Given the description of an element on the screen output the (x, y) to click on. 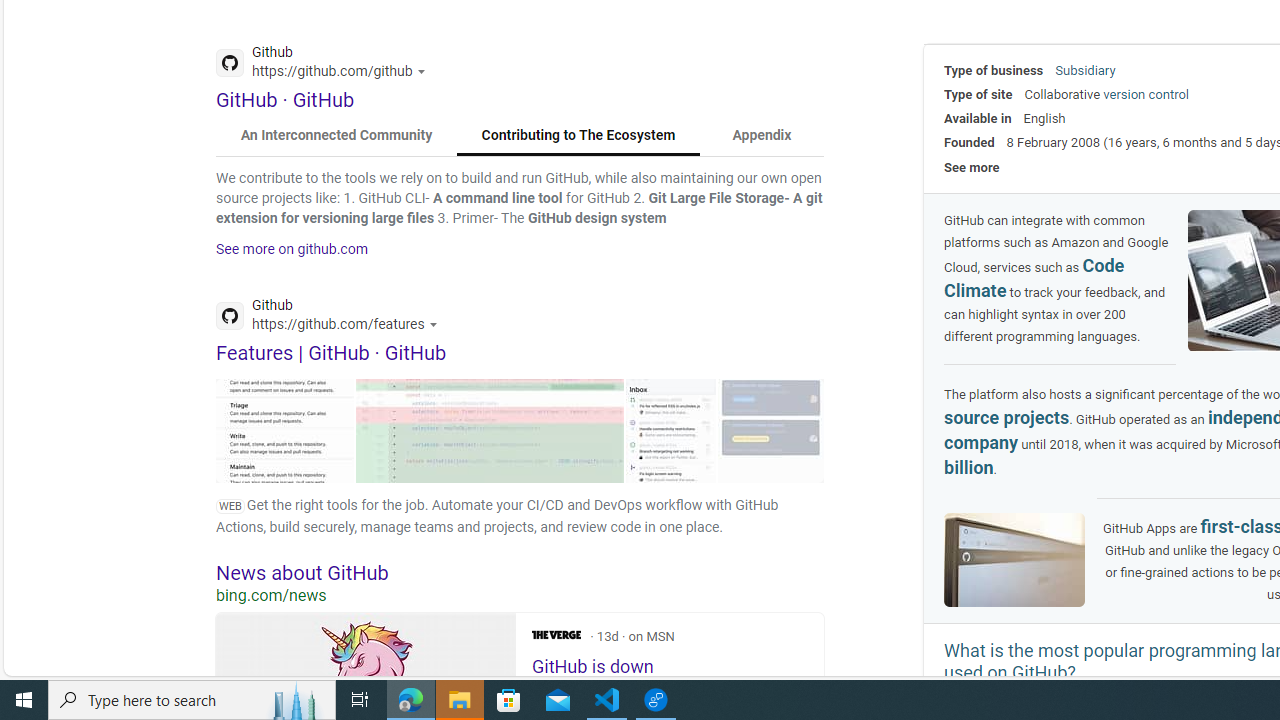
Available in (978, 117)
Type of site (978, 94)
View details (771, 430)
News about GitHub (520, 572)
See more on github.com (292, 249)
Image of GitHub (1014, 560)
Appendix (761, 135)
An Interconnected Community (337, 135)
View details (771, 430)
The Verge on MSN.com (556, 634)
